Given the description of an element on the screen output the (x, y) to click on. 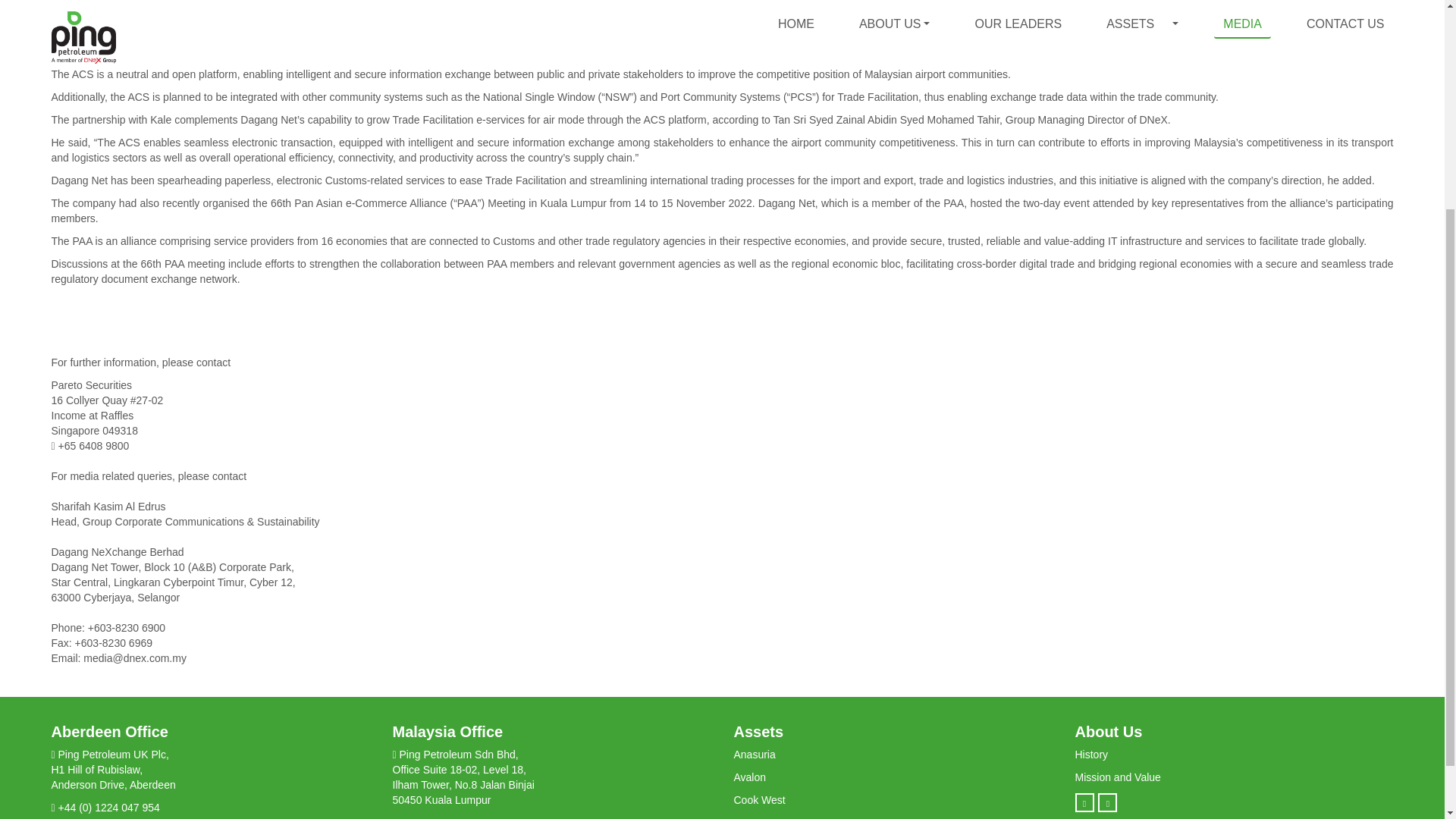
Avalon (750, 776)
Anasuria (754, 754)
History (1091, 754)
Cook West (759, 799)
Mission and Value (1117, 776)
